Given the description of an element on the screen output the (x, y) to click on. 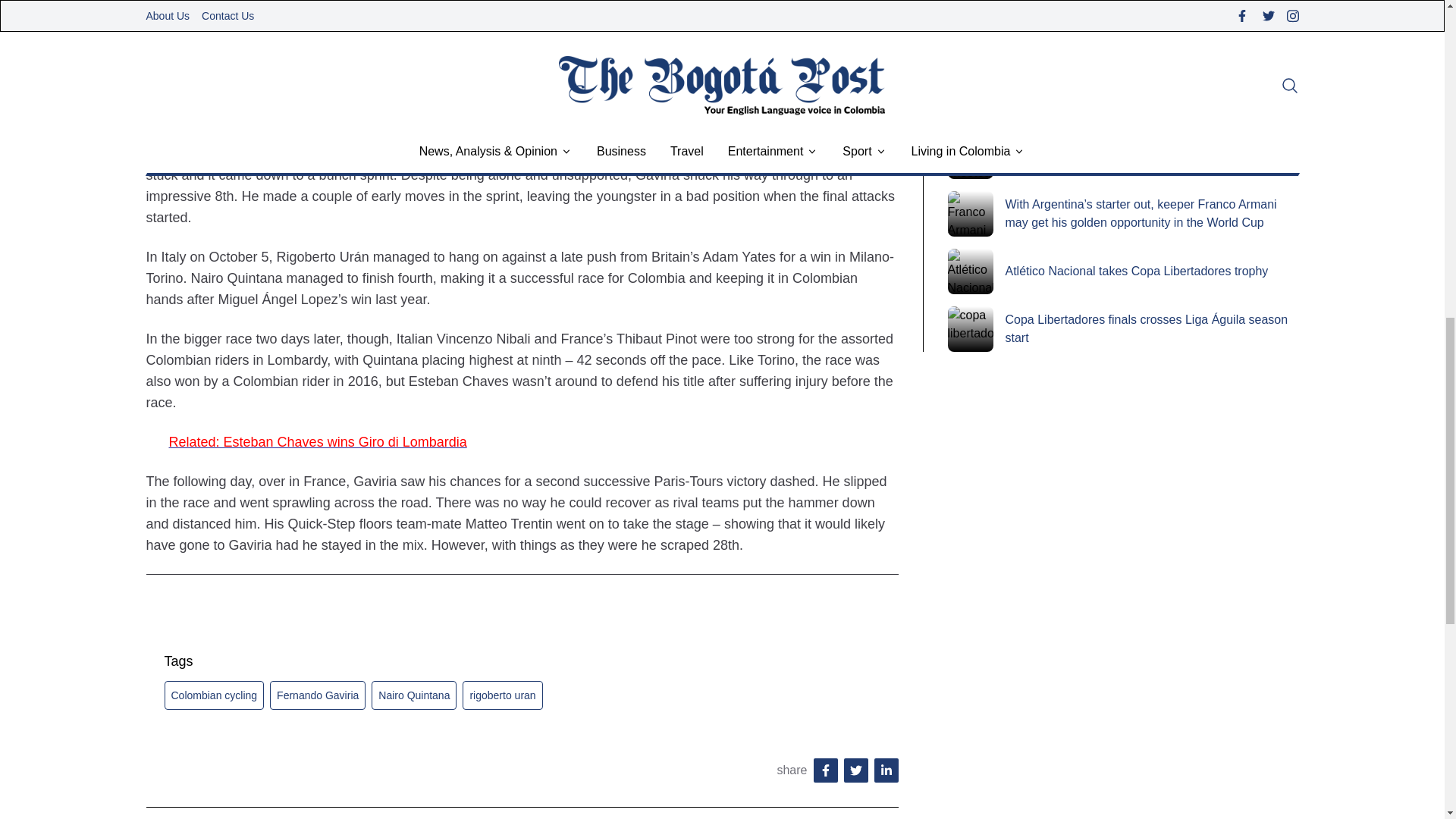
Related: Esteban Chaves wins Giro di Lombardia (316, 441)
rigoberto uran (502, 695)
Nairo Quintana (414, 695)
Fernando Gaviria (317, 695)
Colombian cycling (213, 695)
